Given the description of an element on the screen output the (x, y) to click on. 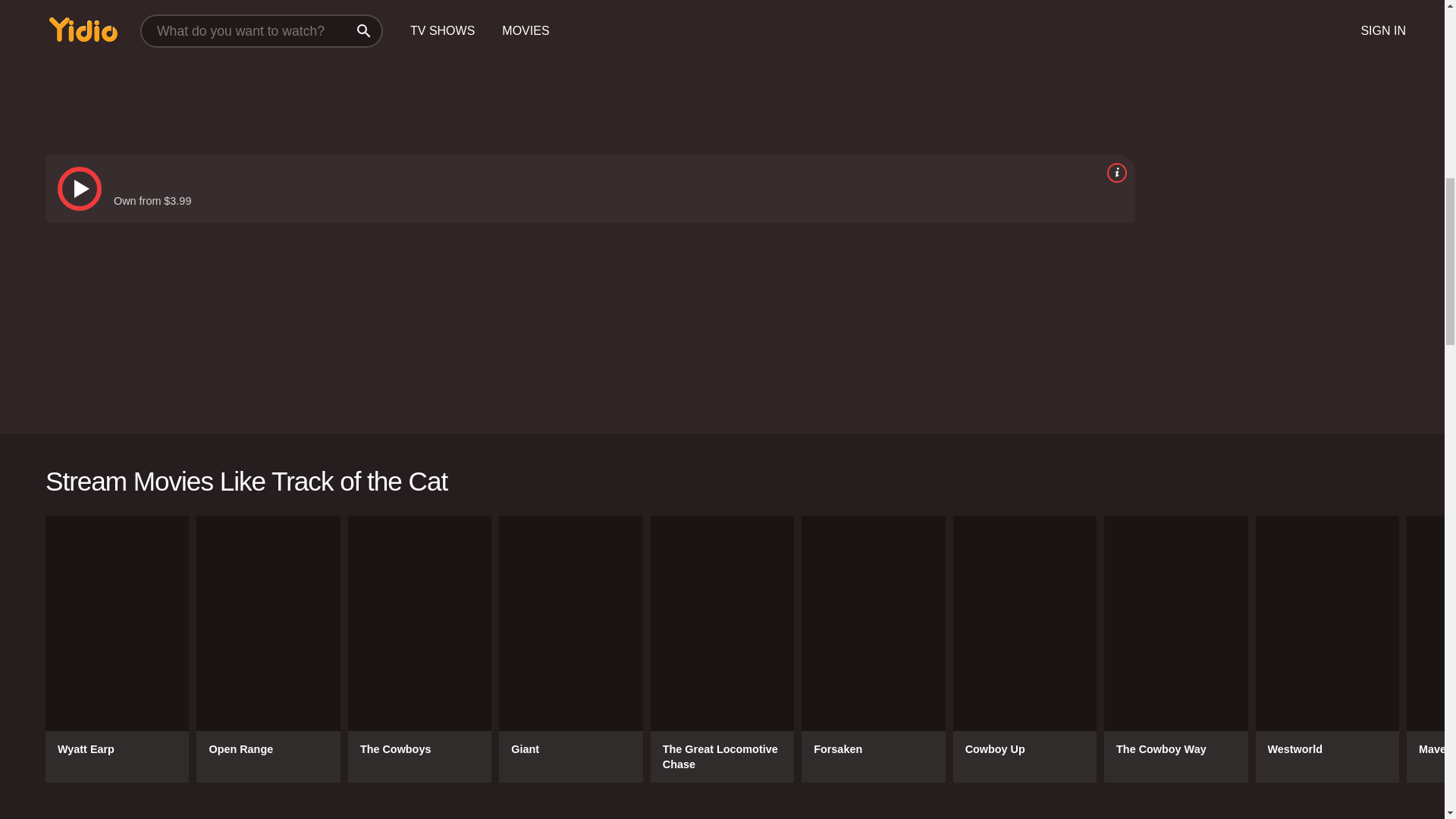
Open Range (267, 648)
The Cowboy Way (1175, 648)
Wyatt Earp (117, 648)
Giant (570, 648)
Forsaken (873, 648)
The Cowboys (419, 648)
The Great Locomotive Chase (721, 648)
Cowboy Up (1024, 648)
Advertisement (500, 63)
Advertisement (1285, 185)
Westworld (1327, 648)
